Given the description of an element on the screen output the (x, y) to click on. 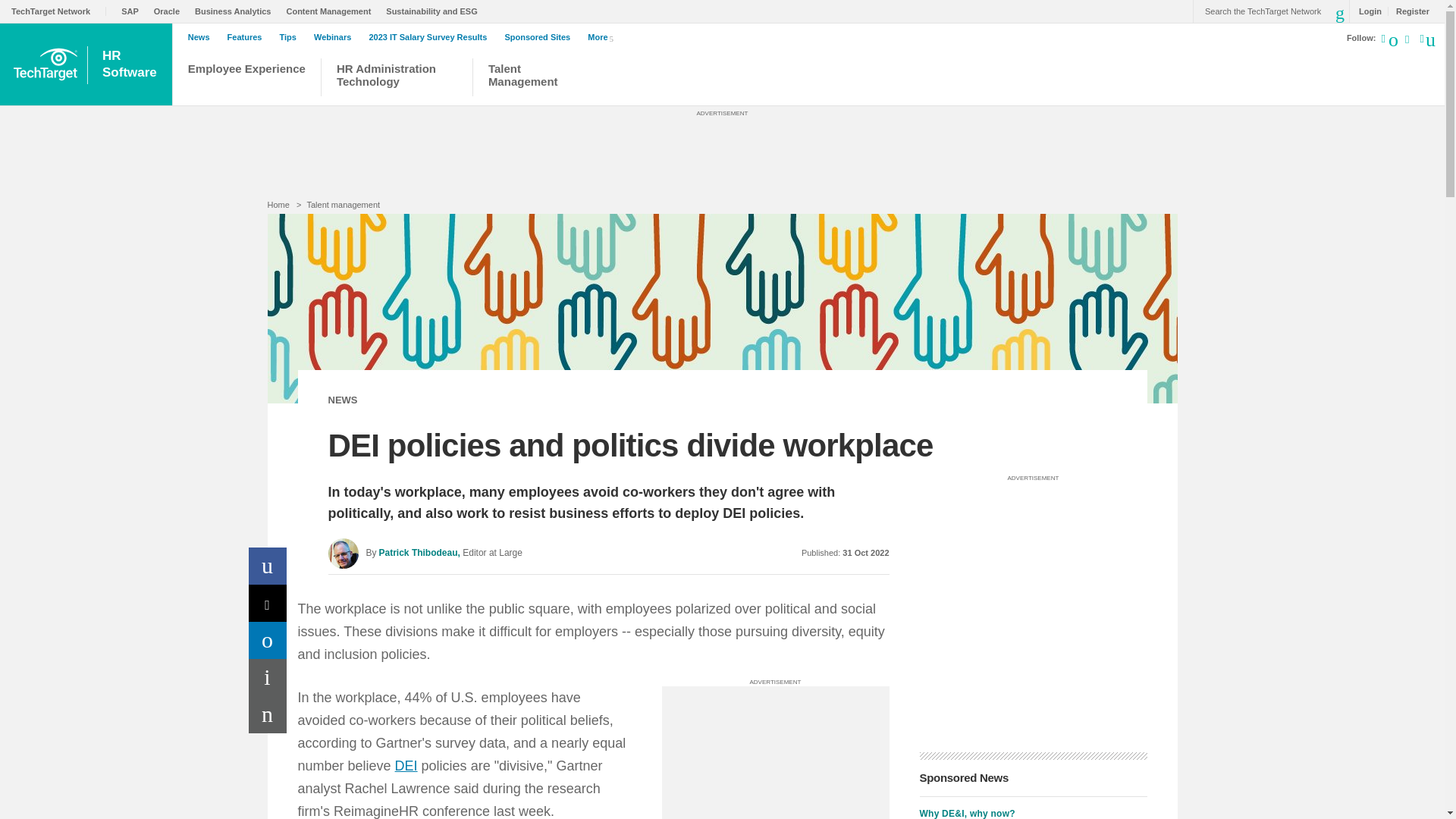
Login (1366, 10)
Print This Page (267, 677)
Talent Management (528, 79)
Webinars (336, 36)
3rd party ad content (774, 752)
Share on X (267, 602)
Talent management (342, 204)
Content Management (331, 10)
Sustainability and ESG (434, 10)
More (604, 36)
